Given the description of an element on the screen output the (x, y) to click on. 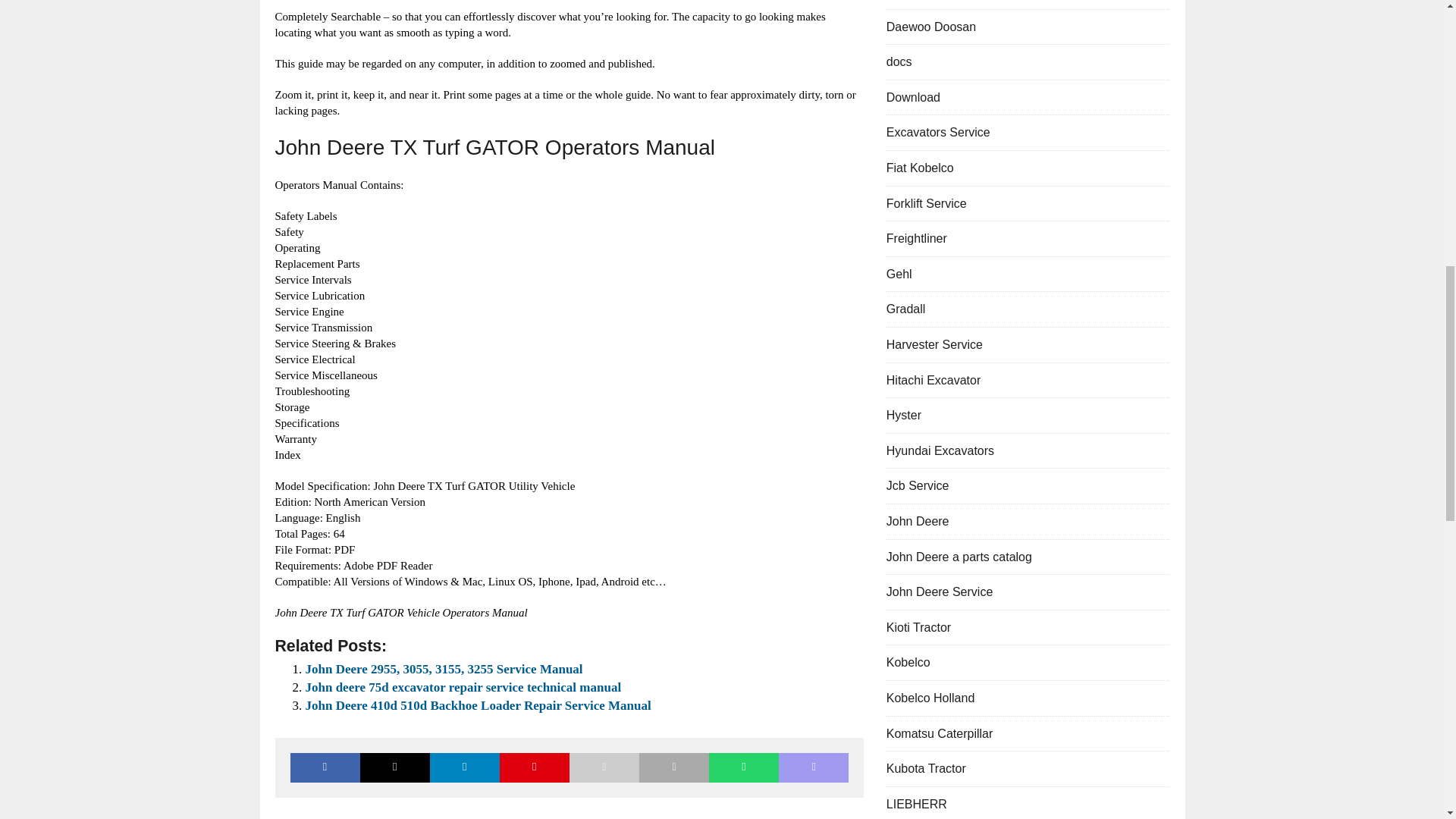
John Deere 2955, 3055, 3155, 3255 Service Manual (443, 668)
John Deere 410d 510d Backhoe Loader Repair Service Manual (477, 705)
Pin This Post (534, 767)
Print this article (674, 767)
Tweet This Post (394, 767)
Share on Whatsapp (743, 767)
Share on Facebook (324, 767)
John Deere 2955, 3055, 3155, 3255 Service Manual (443, 668)
Send this article to a friend (604, 767)
John Deere 410d 510d Backhoe Loader Repair Service Manual (477, 705)
